Given the description of an element on the screen output the (x, y) to click on. 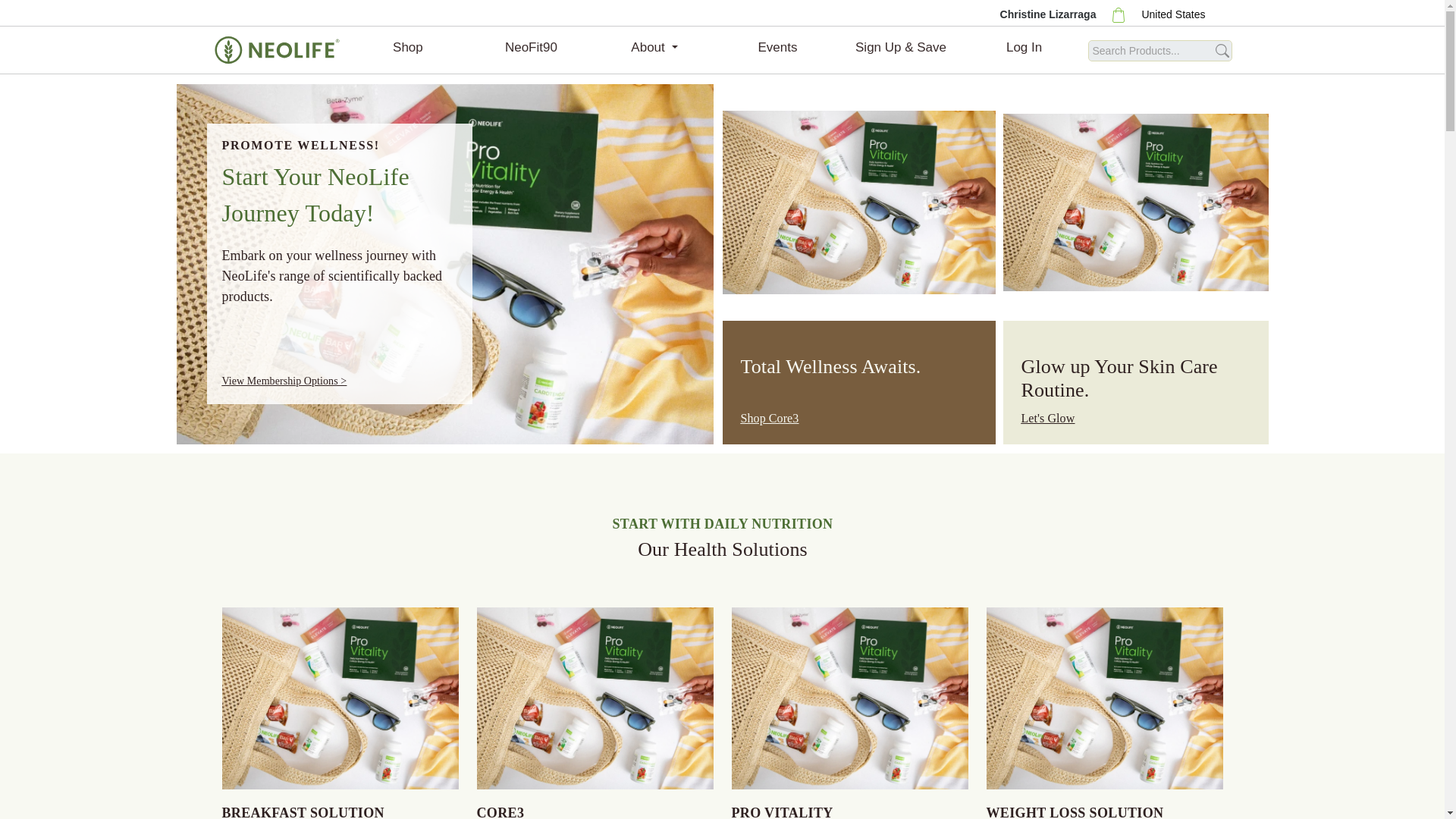
Log In (1024, 49)
About (654, 49)
NeoFit90 (530, 49)
Events (777, 49)
Shop (407, 49)
United States (1173, 14)
